Given the description of an element on the screen output the (x, y) to click on. 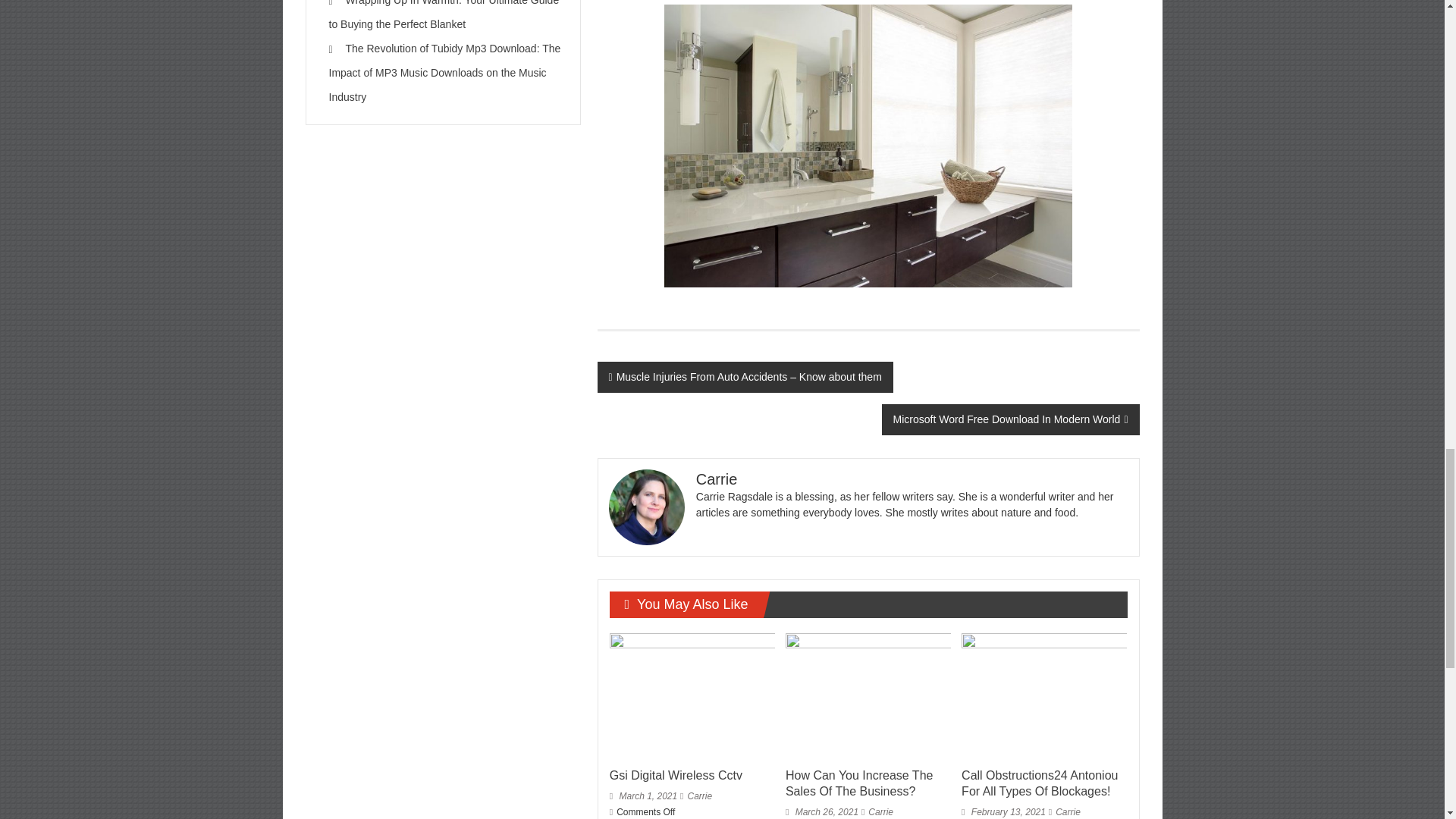
Carrie (699, 796)
Microsoft Word Free Download In Modern World (1011, 419)
How Can You Increase The Sales Of The Business? (868, 695)
2:39 pm (643, 796)
How Can You Increase The Sales Of The Business? (859, 783)
March 1, 2021 (643, 796)
Gsi Digital Wireless Cctv (676, 775)
Carrie (880, 811)
Carrie (699, 796)
Gsi Digital Wireless Cctv (692, 695)
2:37 pm (822, 811)
Gsi Digital Wireless Cctv (676, 775)
